Given the description of an element on the screen output the (x, y) to click on. 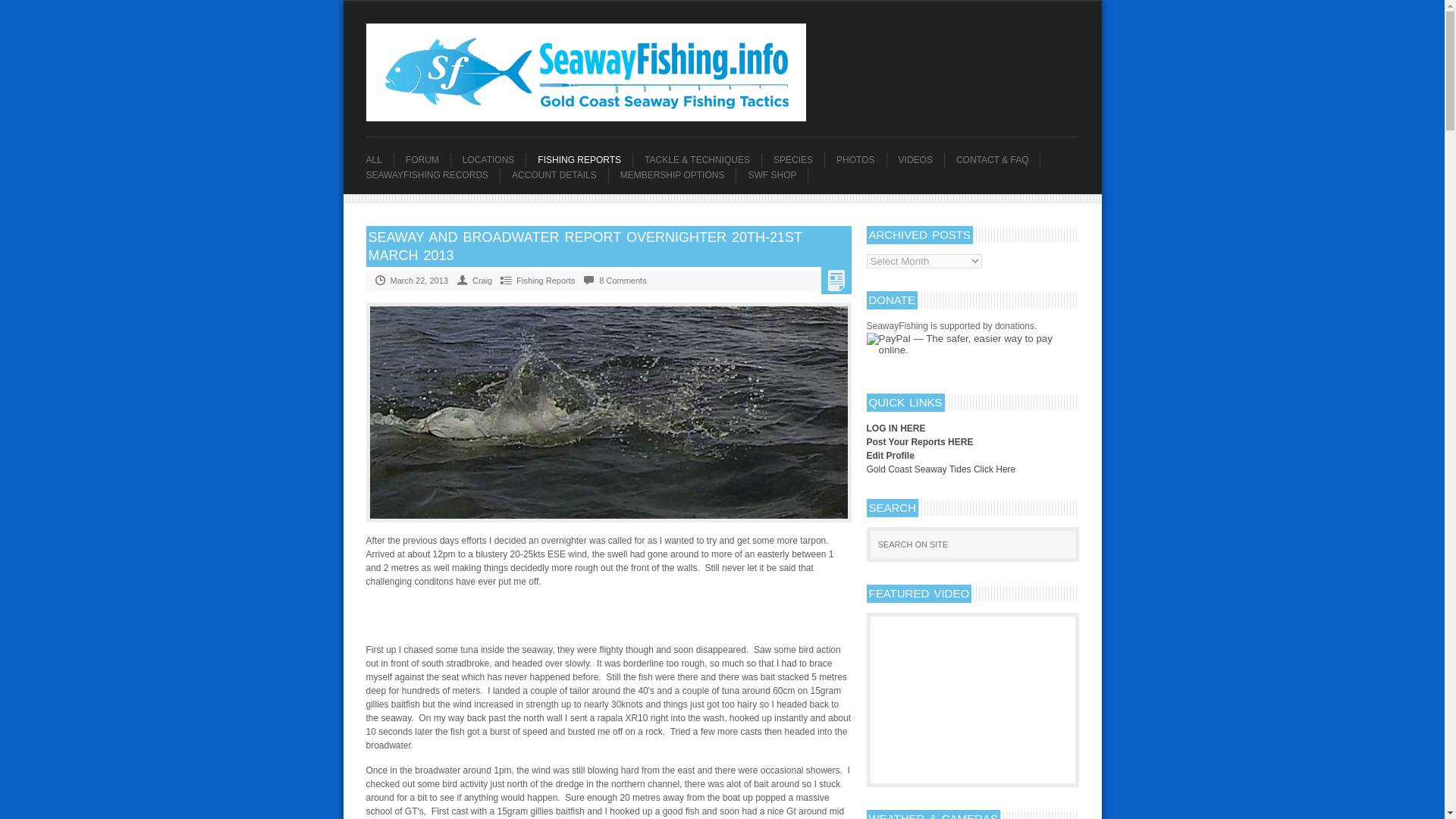
PHOTOS (860, 159)
8 Comments (622, 280)
ALL (379, 159)
SPECIES (798, 159)
VIDEOS (920, 159)
MEMBERSHIP OPTIONS (678, 174)
SWF SHOP (778, 174)
ACCOUNT DETAILS (560, 174)
FORUM (427, 159)
LOCATIONS (494, 159)
FISHING REPORTS (584, 159)
SEAWAYFISHING RECORDS (432, 174)
